Given the description of an element on the screen output the (x, y) to click on. 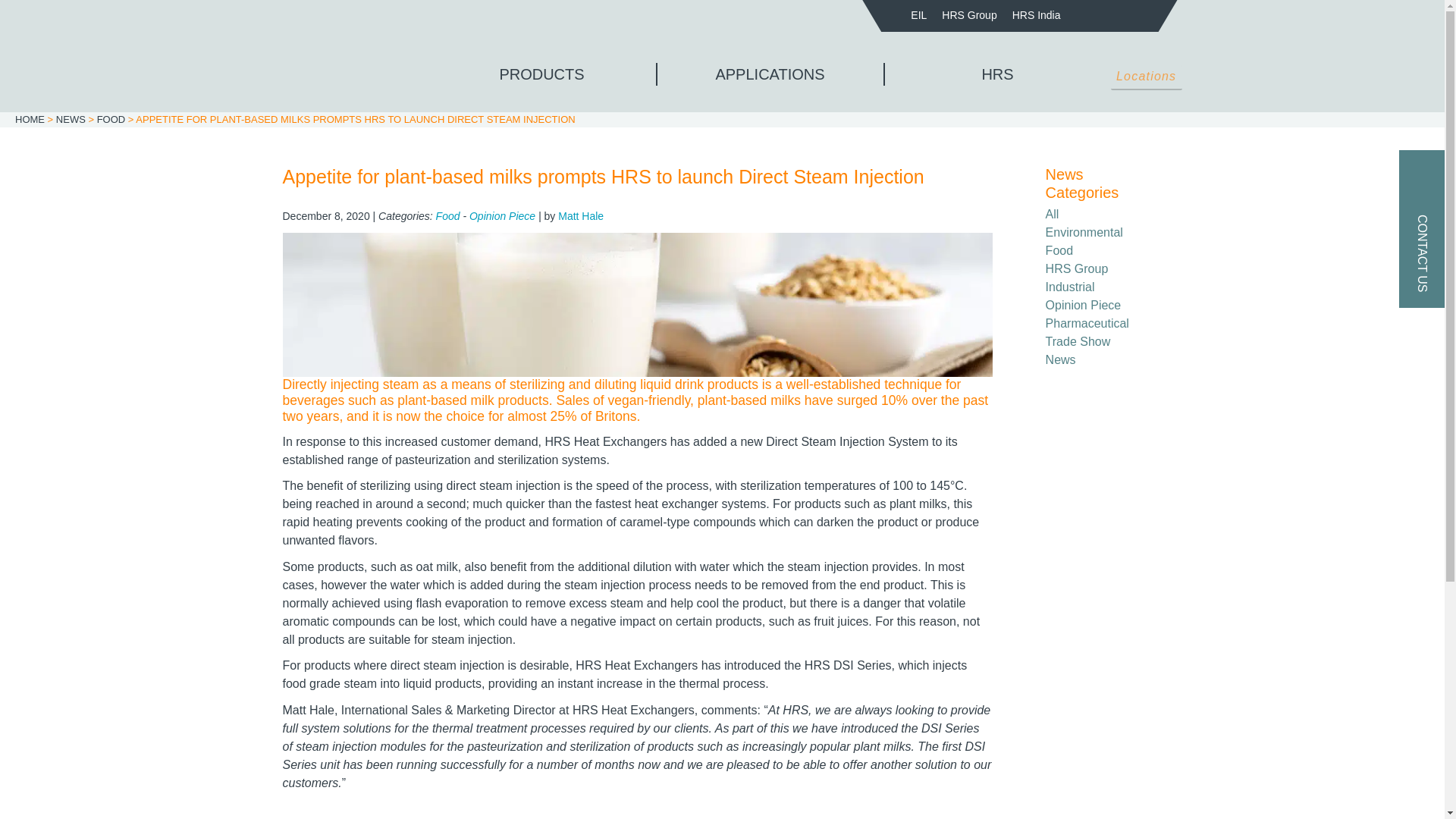
PRODUCTS (541, 74)
HRS India (1036, 15)
EIL (918, 15)
Posts by Matt Hale (580, 215)
HRS Group (968, 15)
